Given the description of an element on the screen output the (x, y) to click on. 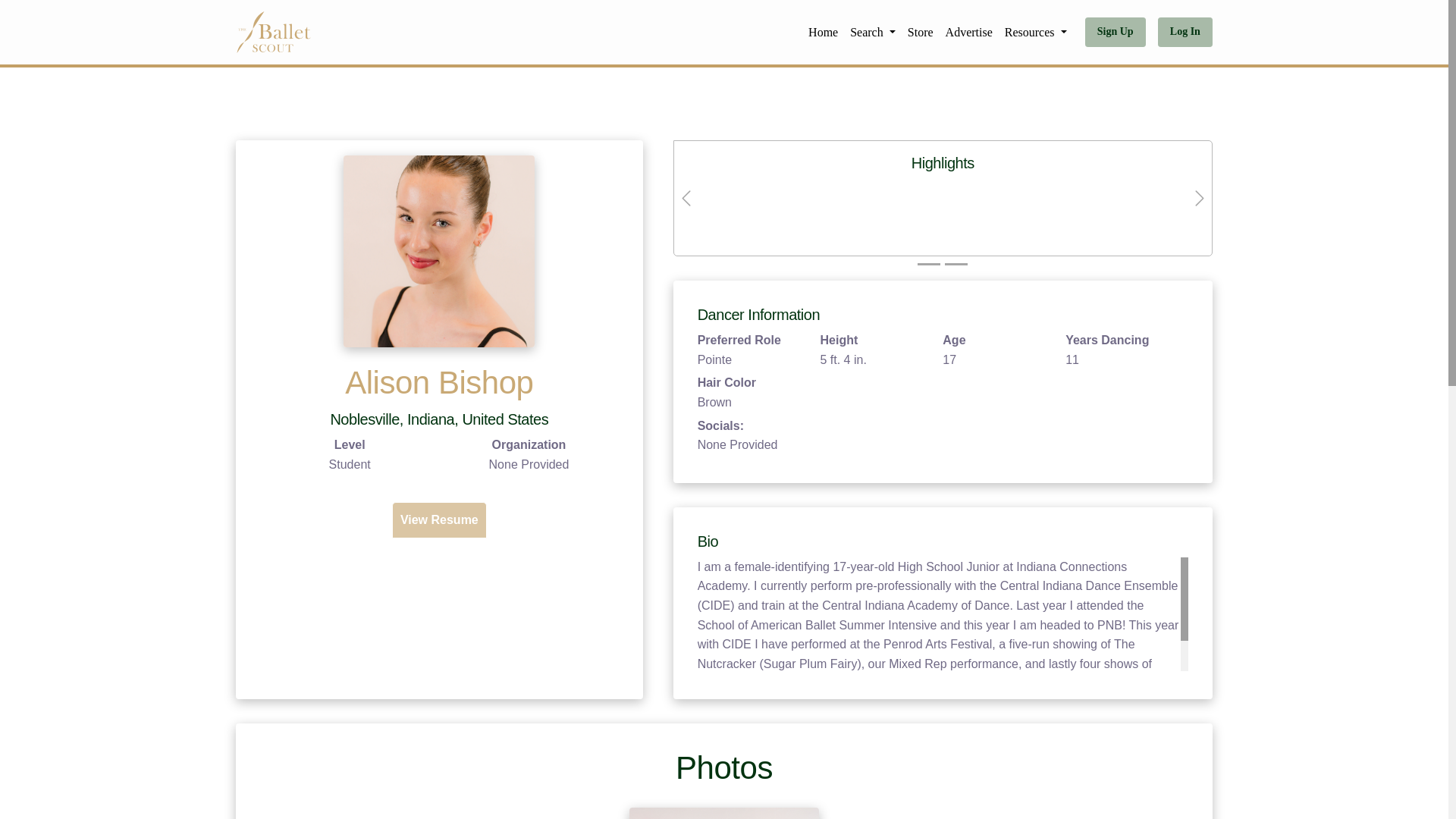
Home (823, 32)
View Resume (438, 520)
Sign Up (1114, 32)
Log In (1184, 32)
Store (920, 32)
Advertise (968, 32)
Search (872, 32)
Resources (1035, 32)
